Given the description of an element on the screen output the (x, y) to click on. 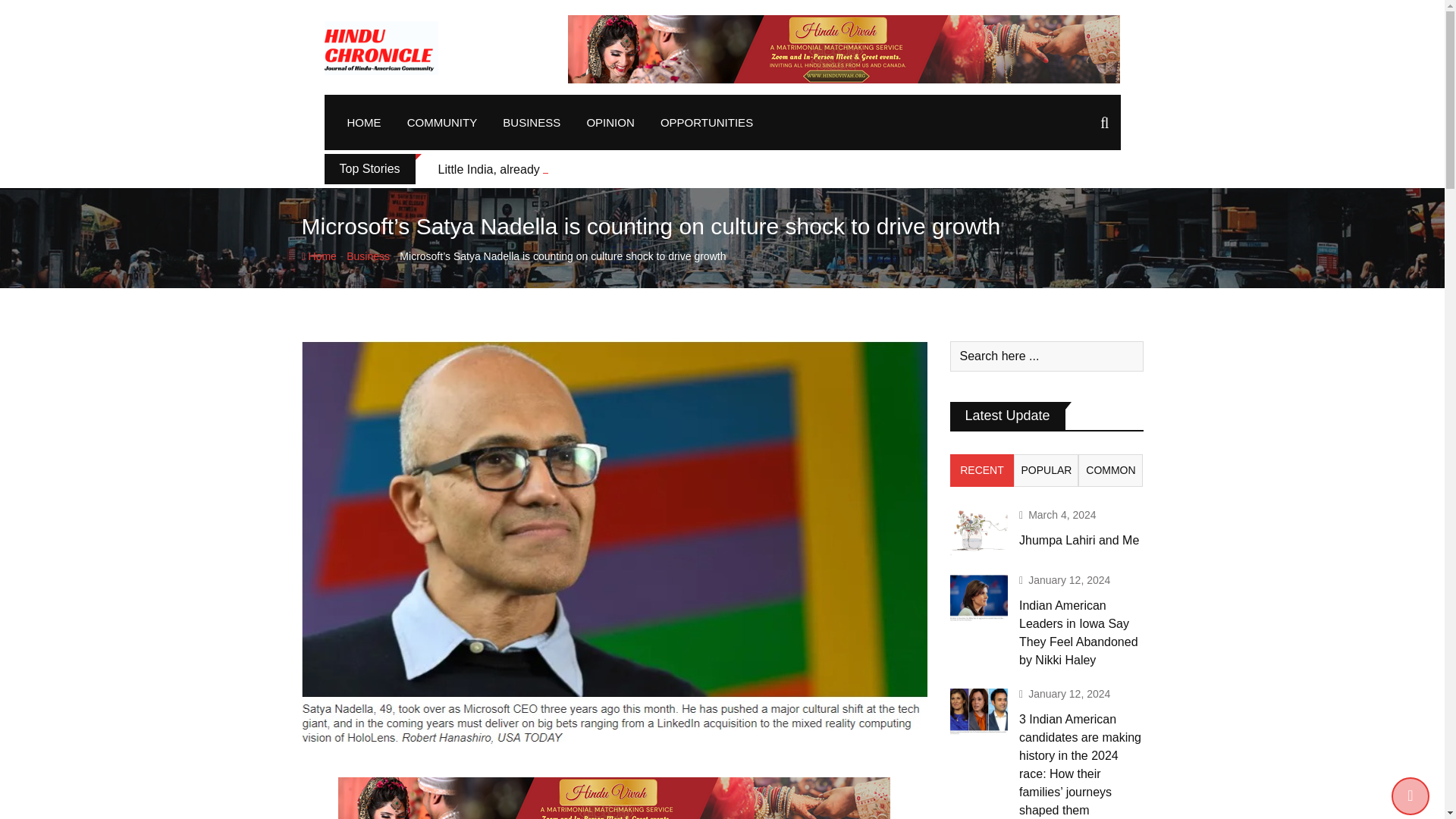
HOME (362, 122)
Jhumpa Lahiri and Me (978, 532)
Business (368, 256)
COMMUNITY (442, 122)
BUSINESS (532, 122)
Home (318, 256)
OPPORTUNITIES (706, 122)
OPINION (610, 122)
